Given the description of an element on the screen output the (x, y) to click on. 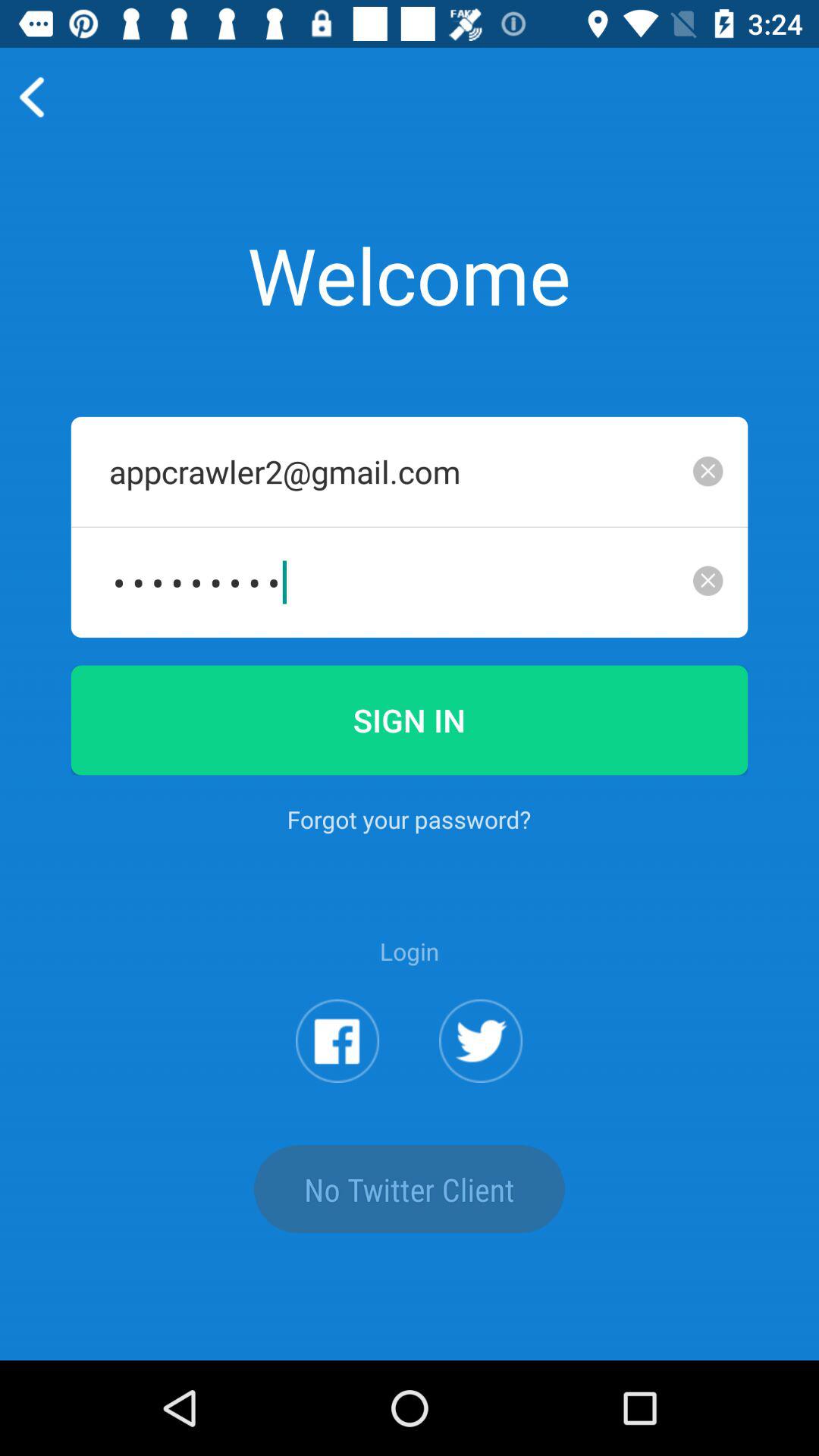
to delete typed password (708, 580)
